Given the description of an element on the screen output the (x, y) to click on. 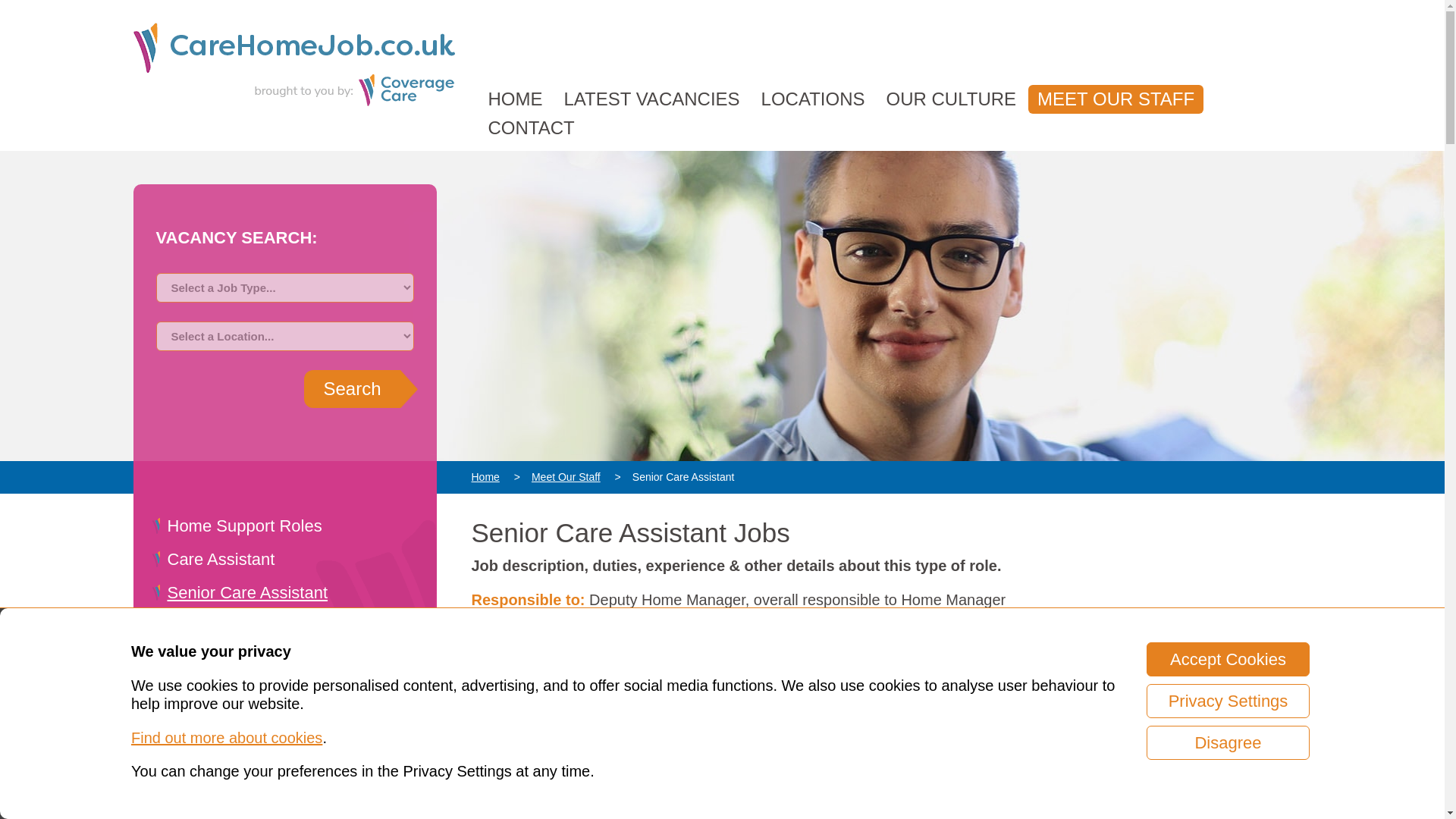
CONTACT (531, 127)
Care Assistant (221, 558)
OUR CULTURE (950, 99)
Home (491, 476)
Go (351, 388)
Home Support Roles (244, 525)
LATEST VACANCIES (651, 99)
LOCATIONS (813, 99)
Search (351, 388)
MEET OUR STAFF (1115, 99)
Meet Our Staff (565, 476)
HOME (515, 99)
